Given the description of an element on the screen output the (x, y) to click on. 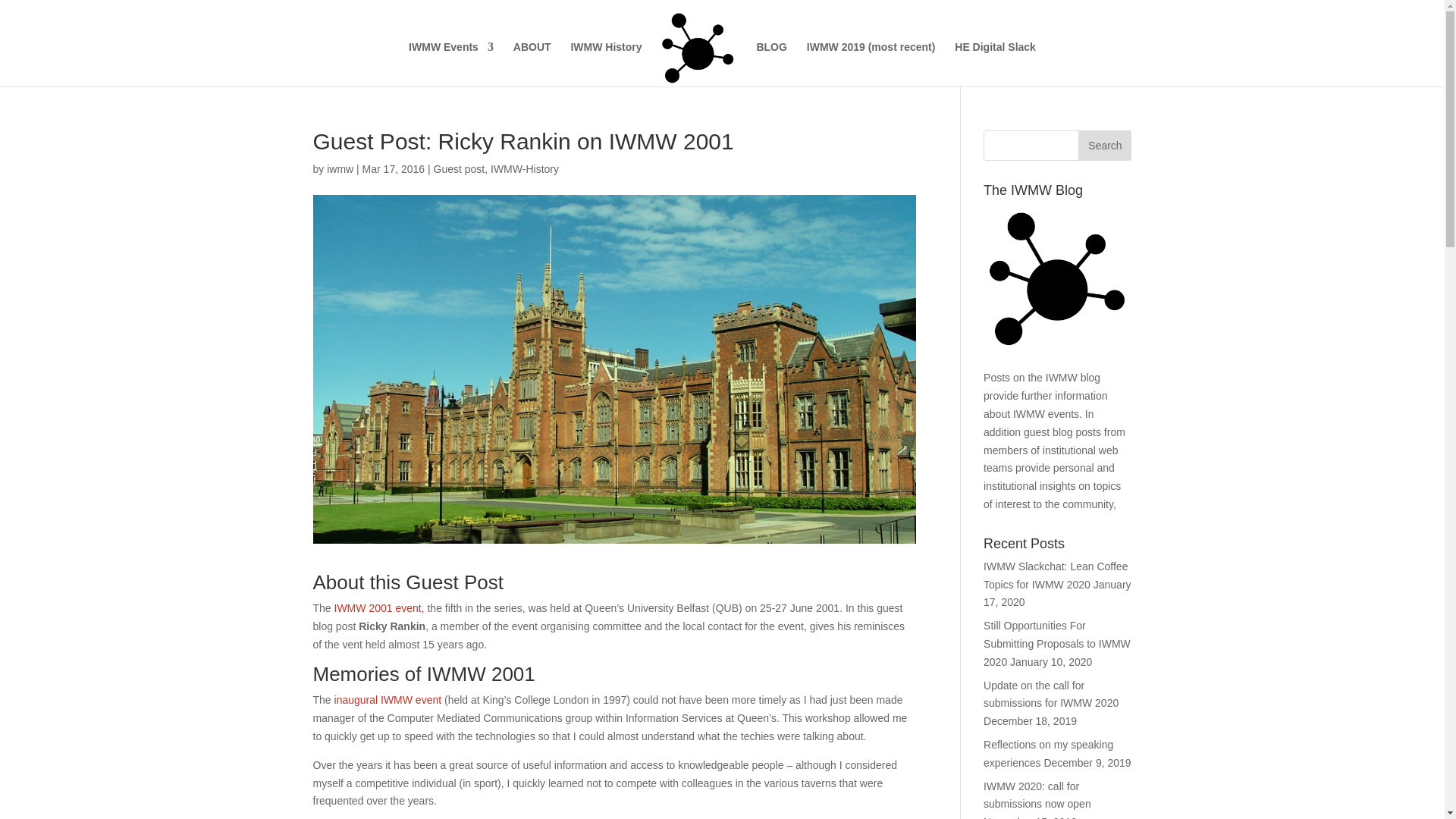
Search (1104, 145)
Posts by iwmw (339, 168)
IWMW History (606, 63)
IWMW Events (451, 63)
HE Digital Slack (995, 63)
